Given the description of an element on the screen output the (x, y) to click on. 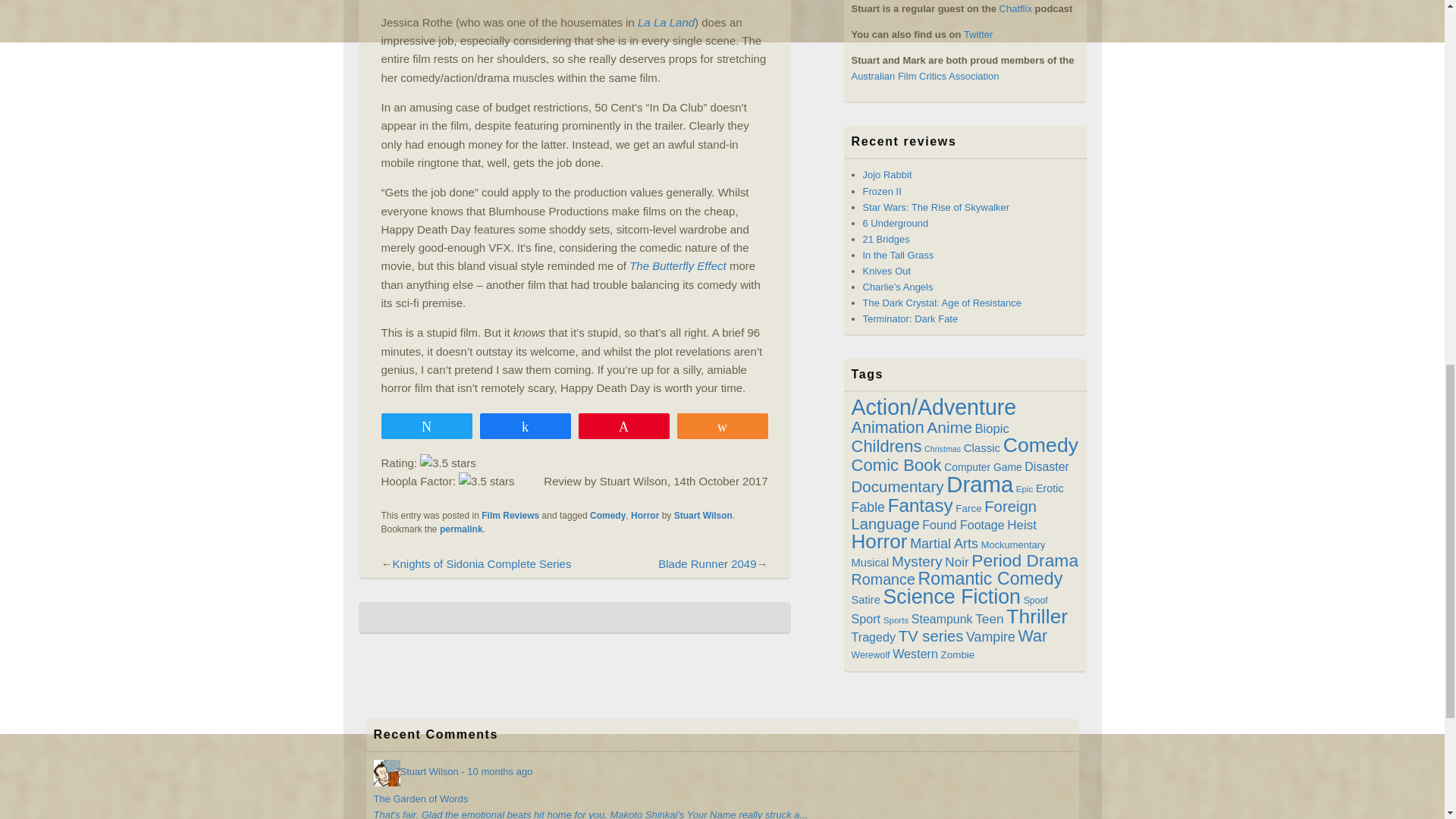
Knights of Sidonia Complete Series (482, 563)
The Butterfly Effect (677, 265)
Comedy (607, 515)
Film Reviews (509, 515)
Stuart Wilson (703, 515)
Blade Runner 2049 (706, 563)
La La Land (665, 21)
Permalink to Happy Death Day (461, 529)
Knights of Sidonia Complete Series (482, 563)
Horror (644, 515)
permalink (461, 529)
Blade Runner 2049 (706, 563)
